Given the description of an element on the screen output the (x, y) to click on. 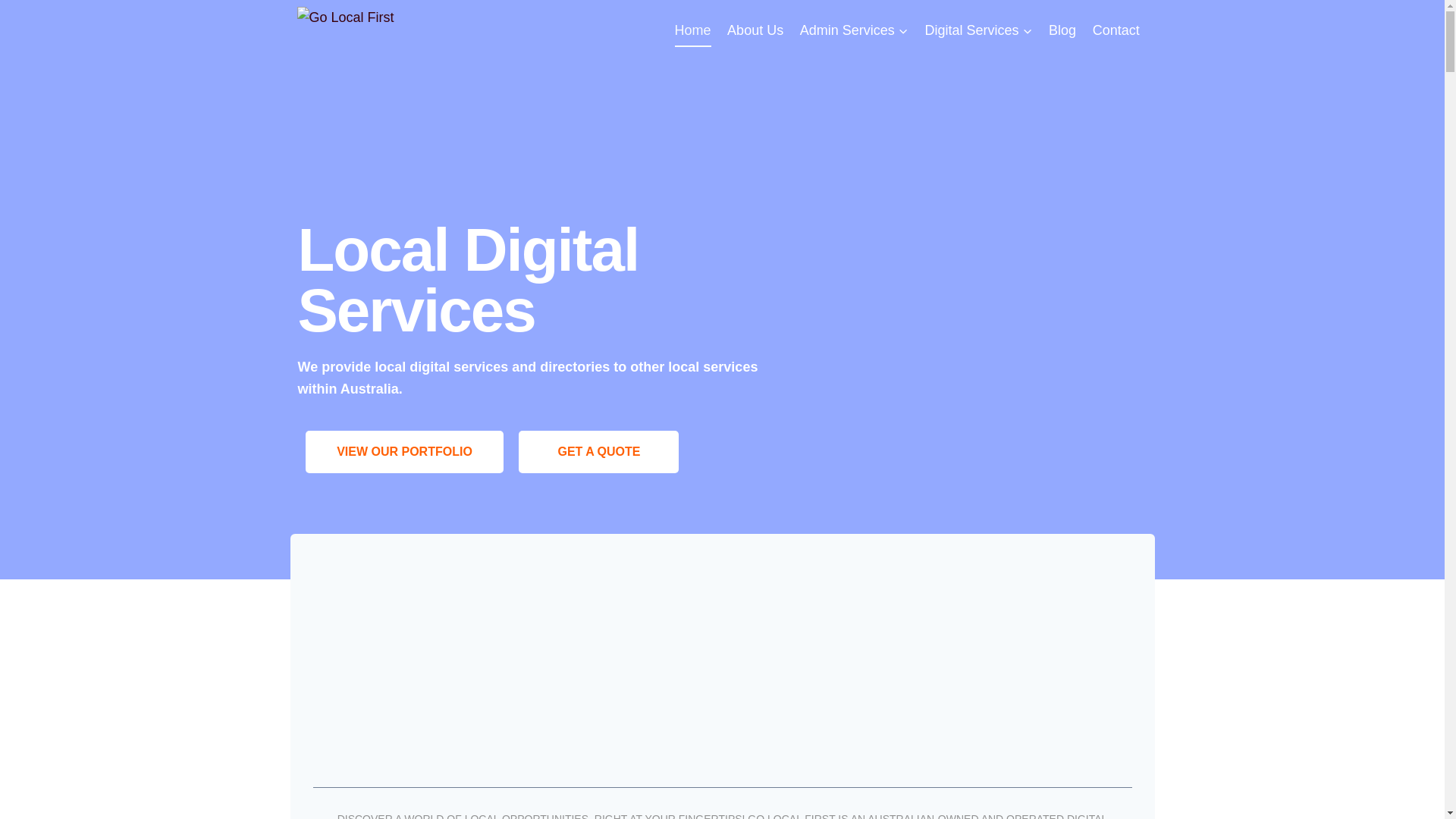
About Us Element type: text (754, 29)
Admin Services Element type: text (853, 29)
Digital Services Element type: text (978, 29)
Blog Element type: text (1062, 29)
Contact Element type: text (1116, 29)
GET A QUOTE Element type: text (598, 451)
Home Element type: text (692, 29)
VIEW OUR PORTFOLIO Element type: text (403, 451)
